Given the description of an element on the screen output the (x, y) to click on. 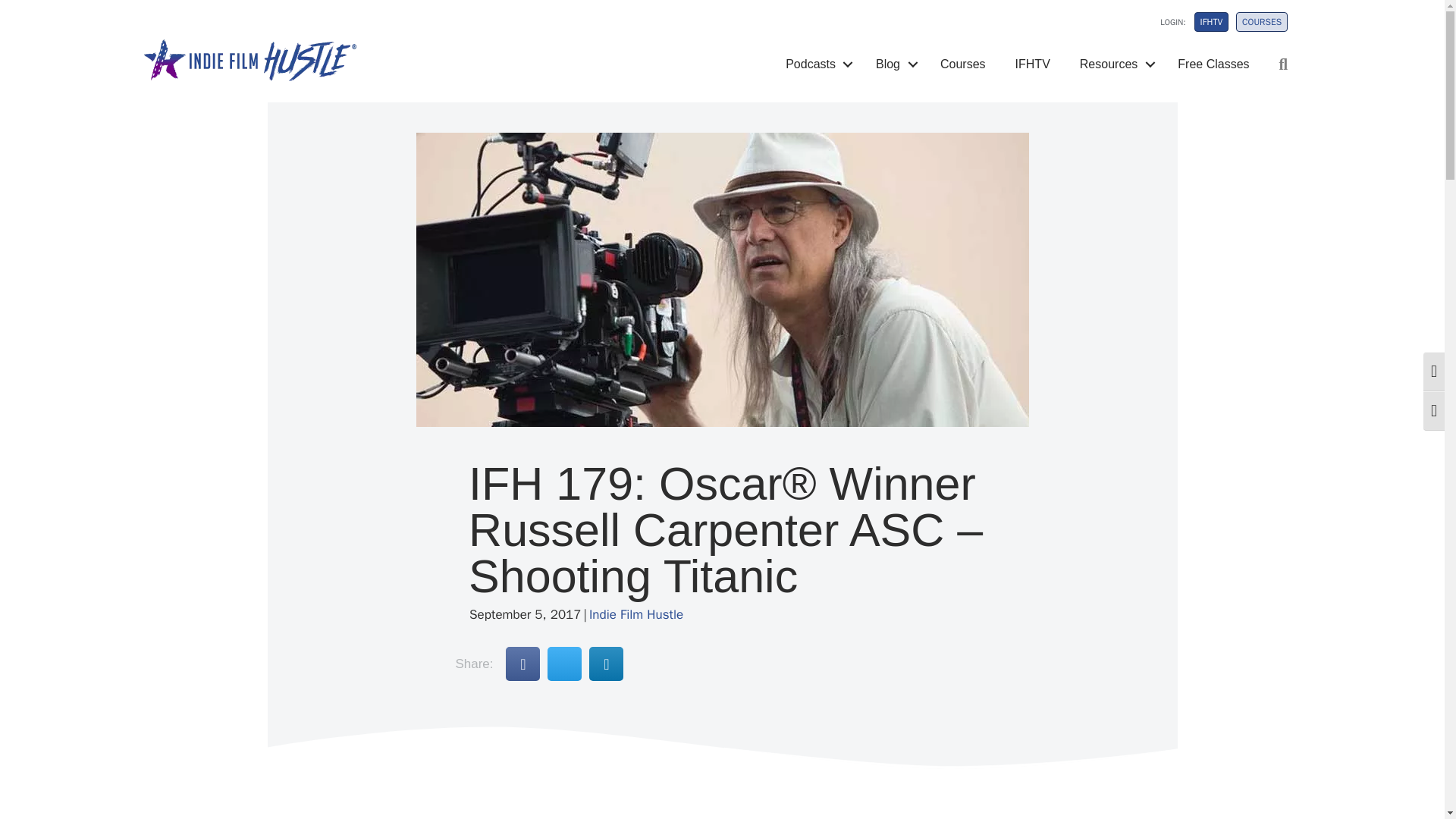
Indie Film Hustle (635, 614)
IFHTV (1210, 21)
IFHTV (1032, 64)
COURSES (1261, 21)
Blog (892, 64)
Resources (1113, 64)
LOGIN: (1163, 26)
Courses (963, 64)
Podcasts (815, 64)
Free Classes (1213, 64)
